Given the description of an element on the screen output the (x, y) to click on. 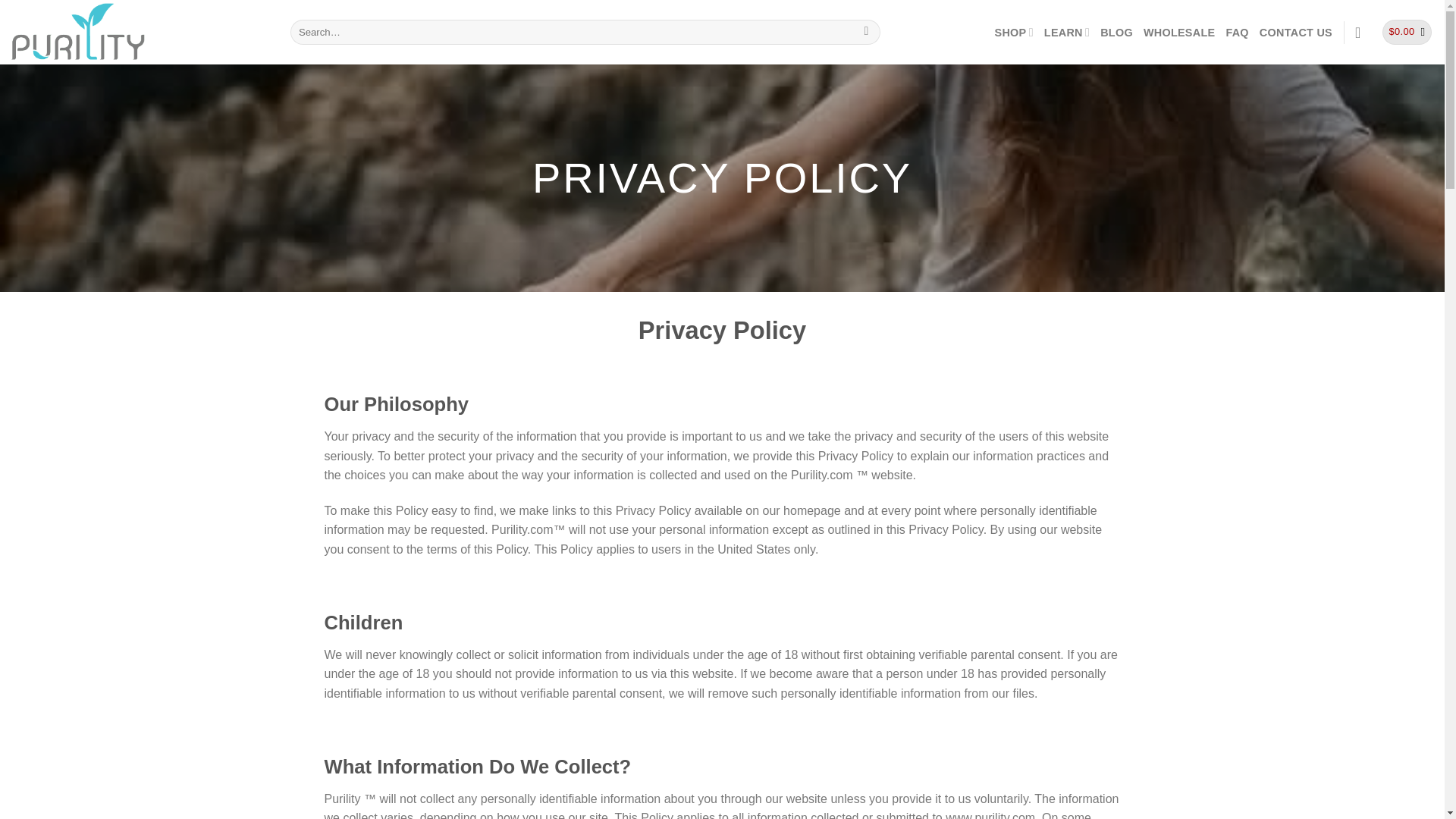
SHOP (1013, 31)
CONTACT US (1295, 31)
Purility - Powered by Nature (139, 32)
WHOLESALE (1178, 31)
Cart (1406, 32)
BLOG (1116, 31)
LEARN (1066, 31)
Search (866, 32)
